Given the description of an element on the screen output the (x, y) to click on. 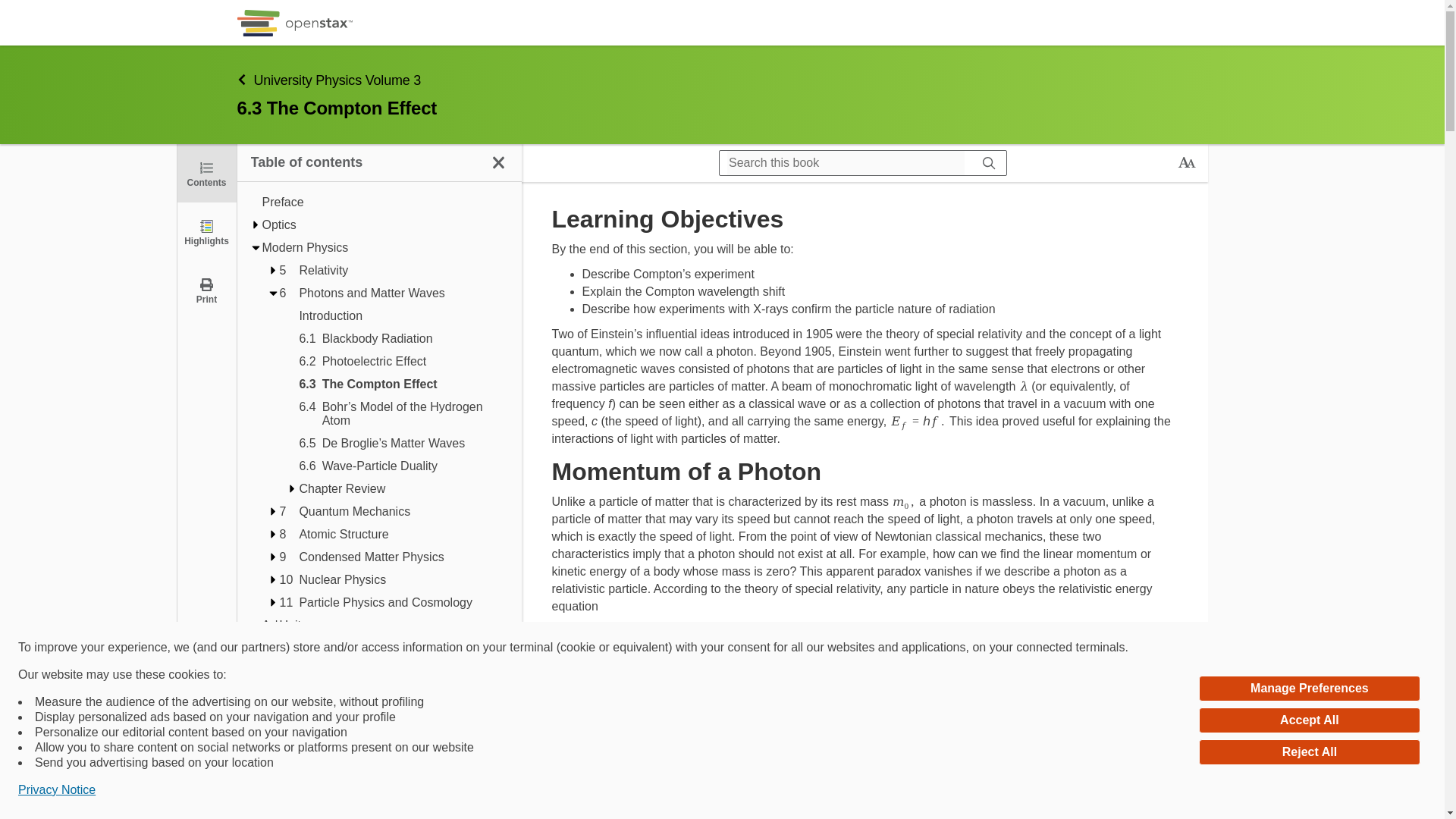
Print (206, 290)
Privacy Notice (56, 789)
Accept All (1309, 720)
University Physics Volume 3 (635, 78)
Reject All (1309, 751)
Preface (385, 202)
University Physics Volume 3 (338, 119)
Contents (206, 173)
Search (16, 12)
